Given the description of an element on the screen output the (x, y) to click on. 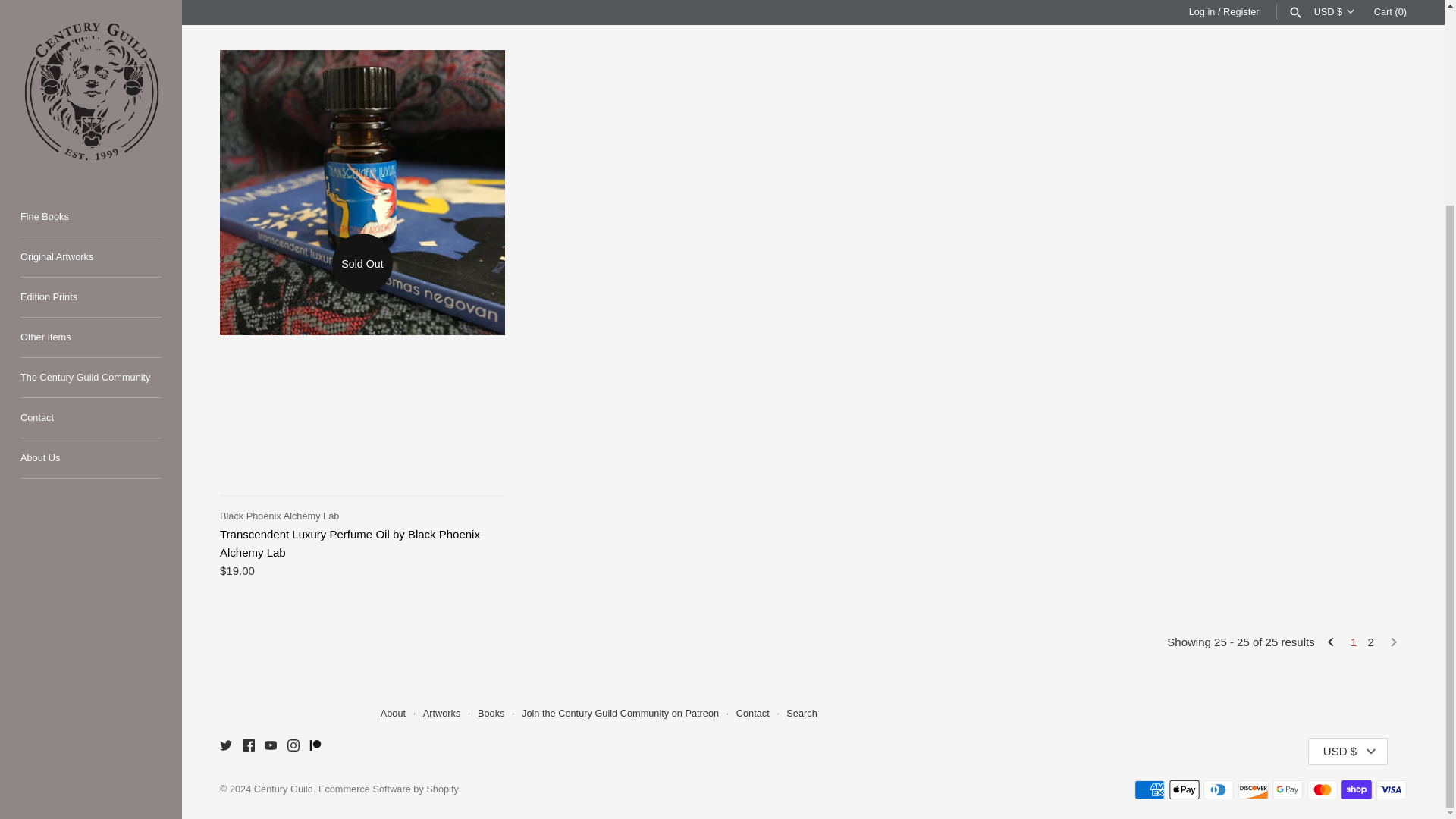
Visa (1390, 789)
Facebook (248, 745)
Shop Pay (1355, 789)
Diners Club (1218, 789)
Google Pay (1287, 789)
Right (1393, 642)
Instagram (292, 745)
Apple Pay (1184, 789)
Twitter (225, 745)
Youtube (270, 745)
